Given the description of an element on the screen output the (x, y) to click on. 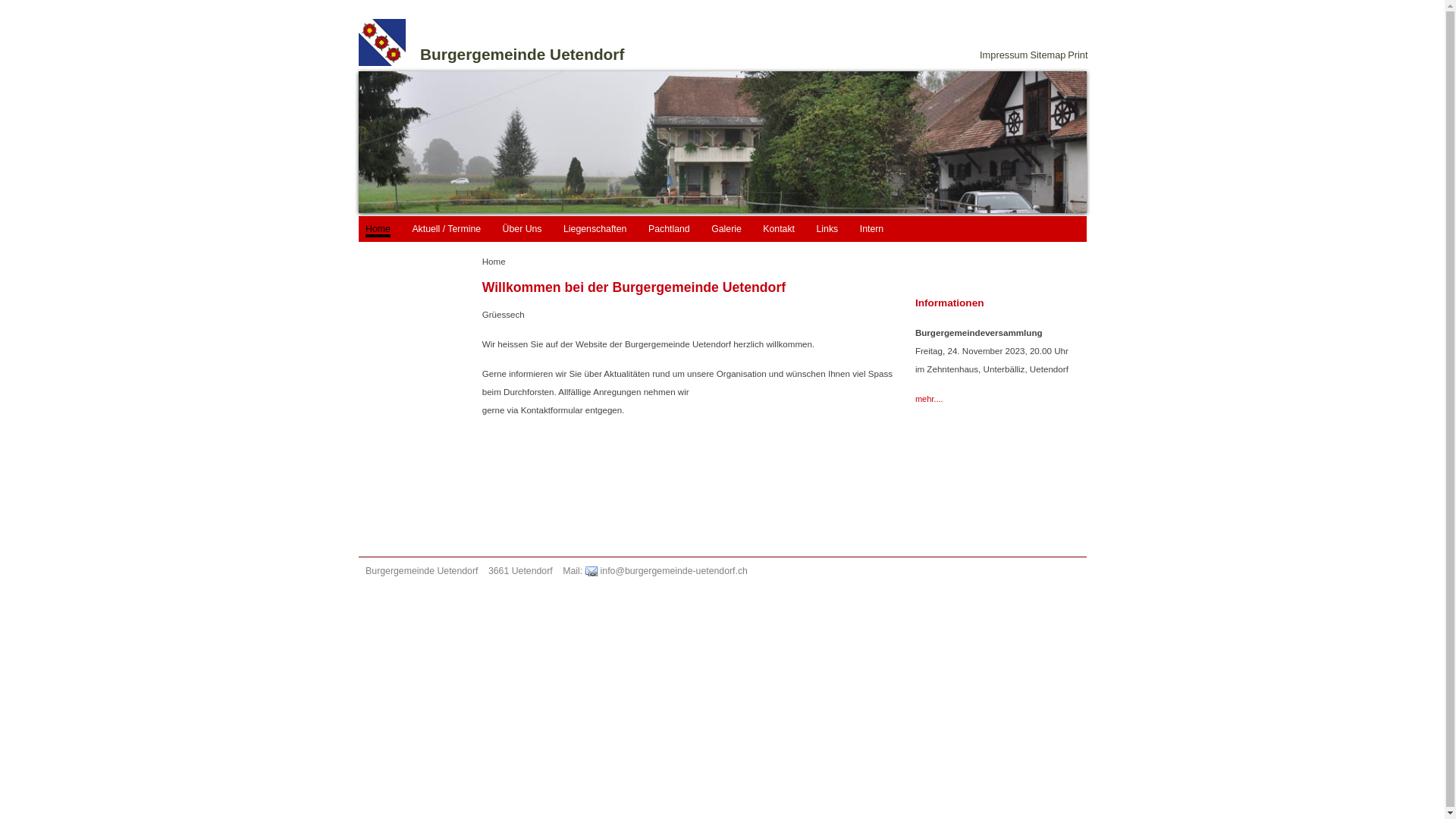
Impressum Element type: text (1001, 54)
Kontakt Element type: text (778, 228)
Intern Element type: text (871, 228)
Burgergemeinde Uetendorf Element type: text (522, 53)
Sitemap Element type: text (1046, 54)
info@burgergemeinde-uetendorf.ch Element type: text (666, 570)
Aktuell / Termine Element type: text (445, 228)
Pachtland Element type: text (669, 228)
Links Element type: text (827, 228)
Home Element type: text (377, 230)
Galerie Element type: text (726, 228)
Liegenschaften Element type: text (594, 228)
Print Element type: text (1076, 54)
mehr.... Element type: text (929, 398)
